Given the description of an element on the screen output the (x, y) to click on. 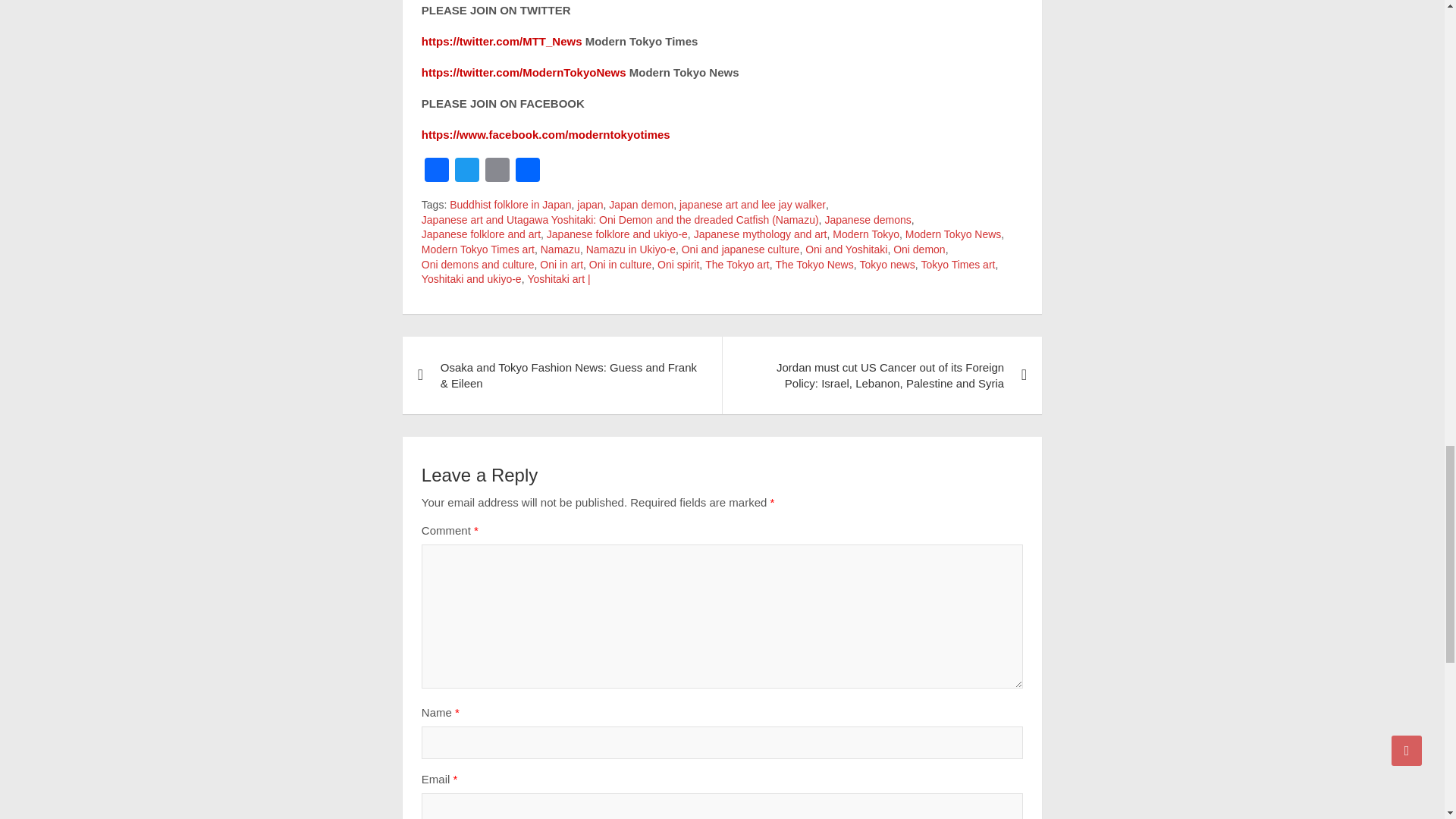
Japanese demons (867, 220)
Buddhist folklore in Japan (509, 205)
japan (589, 205)
Twitter (466, 171)
japanese art and lee jay walker (752, 205)
Facebook (436, 171)
Email (496, 171)
Email (496, 171)
Facebook (436, 171)
Japan demon (640, 205)
